Given the description of an element on the screen output the (x, y) to click on. 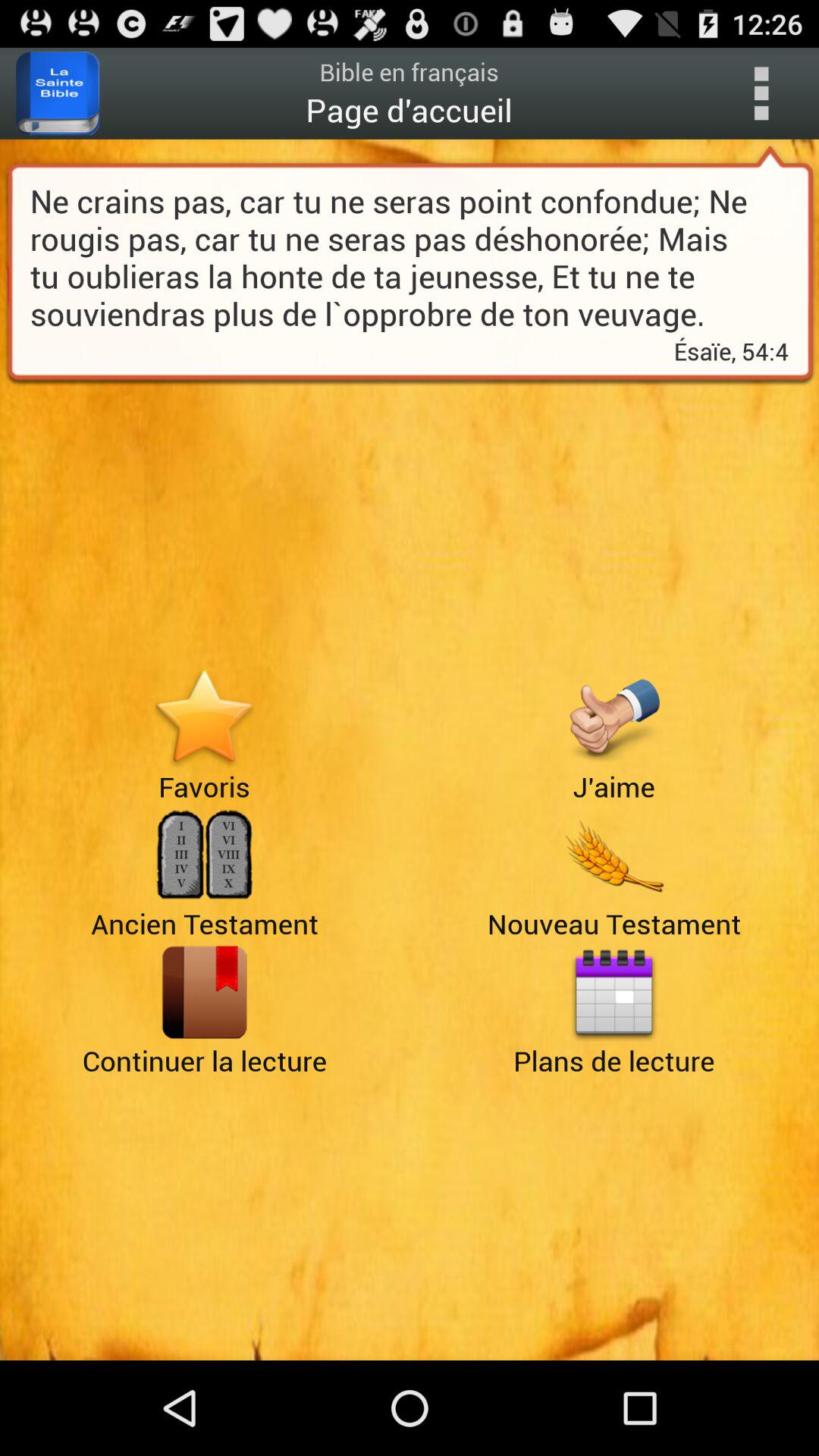
favorites (204, 717)
